Given the description of an element on the screen output the (x, y) to click on. 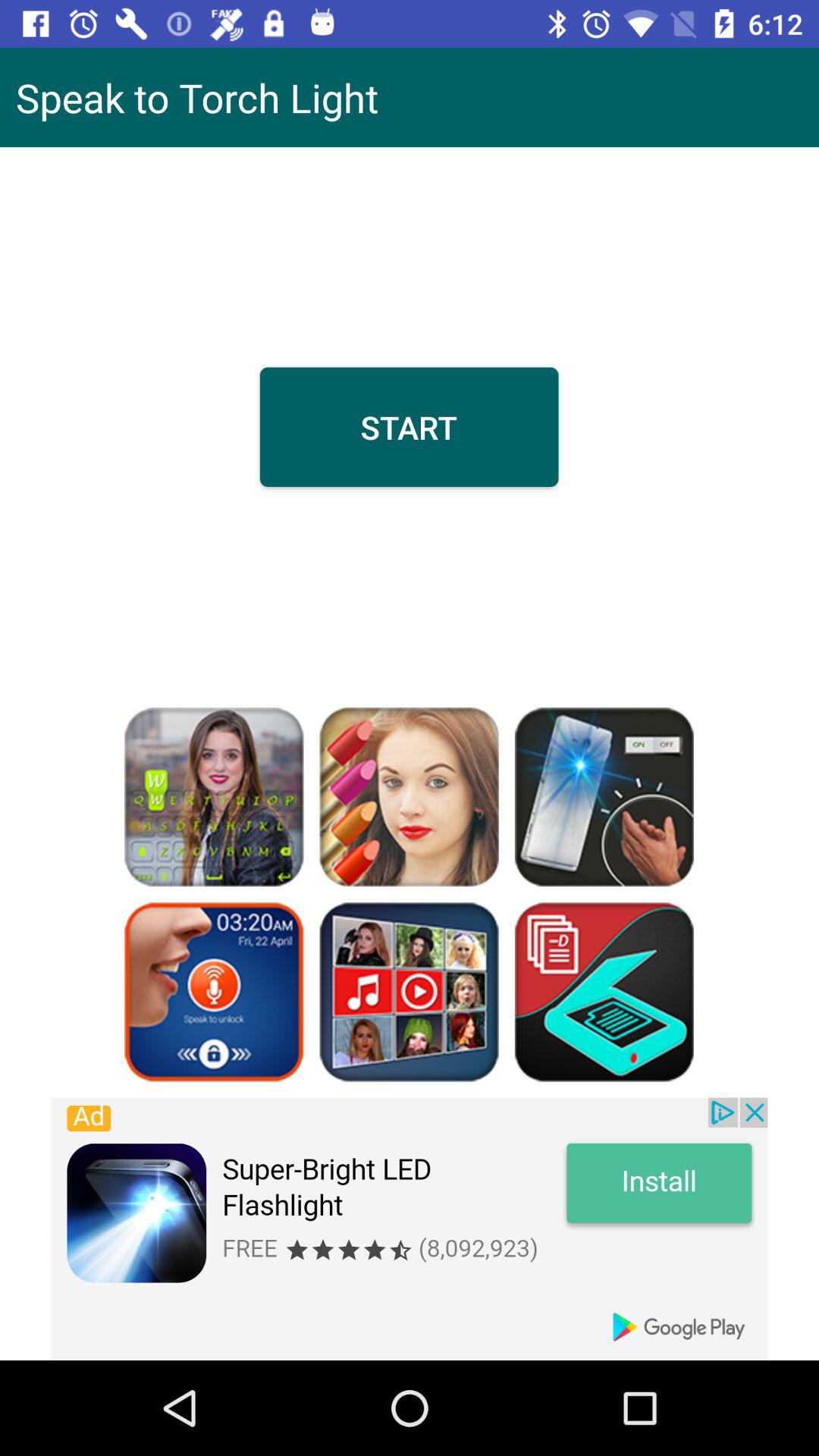
click the page add (409, 1228)
